Given the description of an element on the screen output the (x, y) to click on. 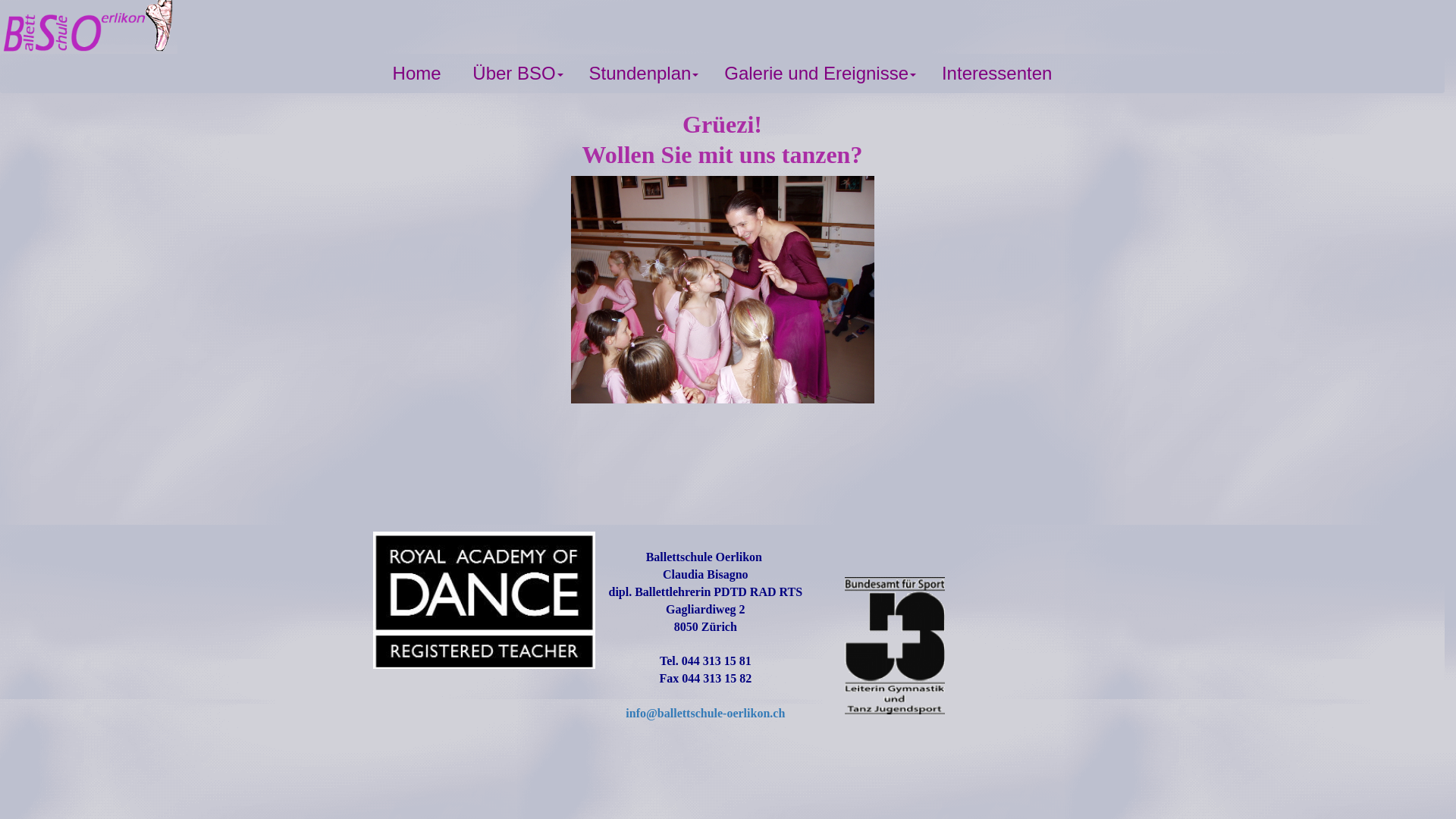
Home Element type: text (416, 73)
Stundenplan Element type: text (643, 73)
Galerie und Ereignisse Element type: text (819, 73)
Interessenten Element type: text (996, 73)
info@ballettschule-oerlikon.ch Element type: text (704, 712)
